Given the description of an element on the screen output the (x, y) to click on. 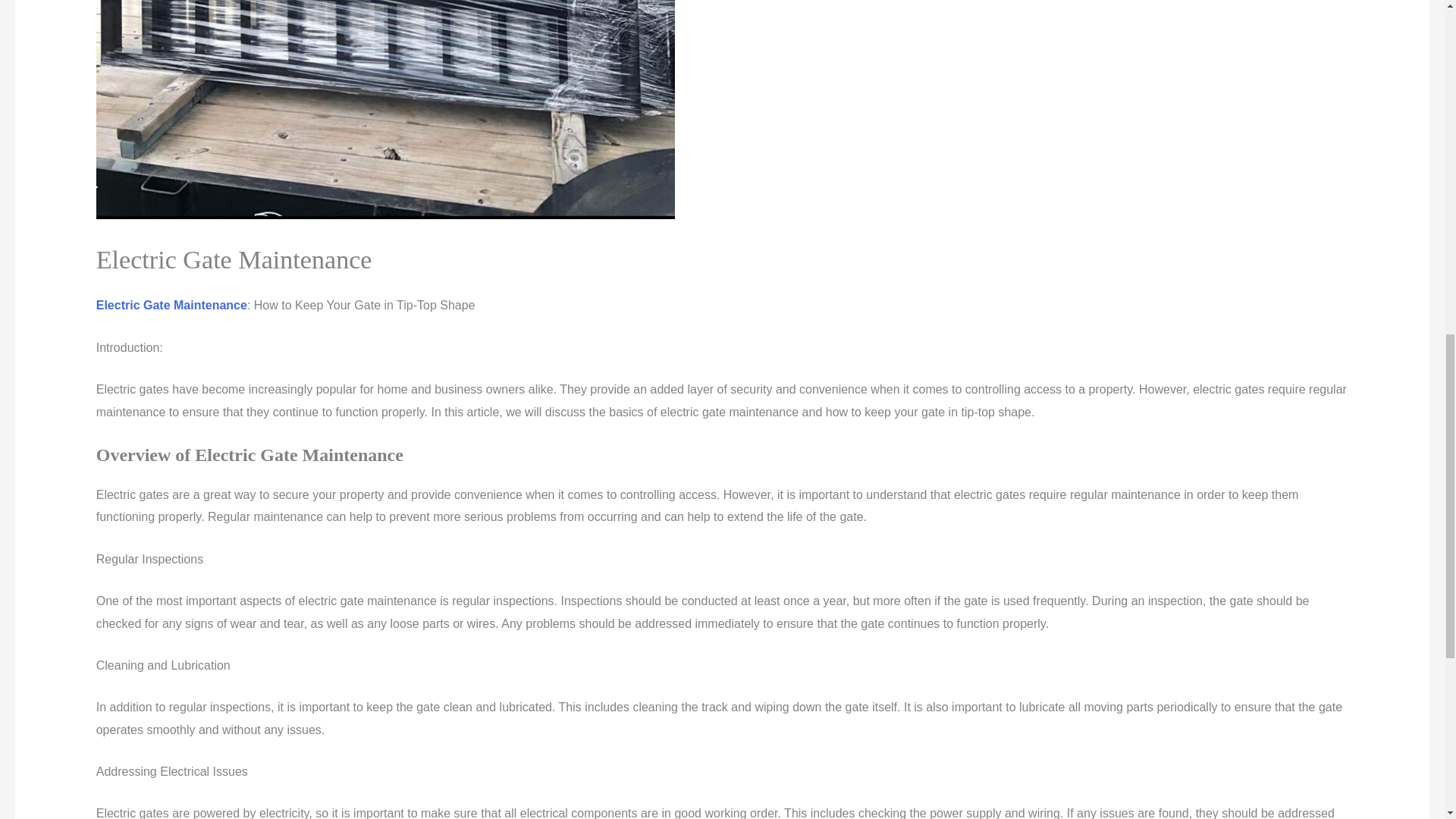
Electric Gate Maintenance (171, 305)
